Given the description of an element on the screen output the (x, y) to click on. 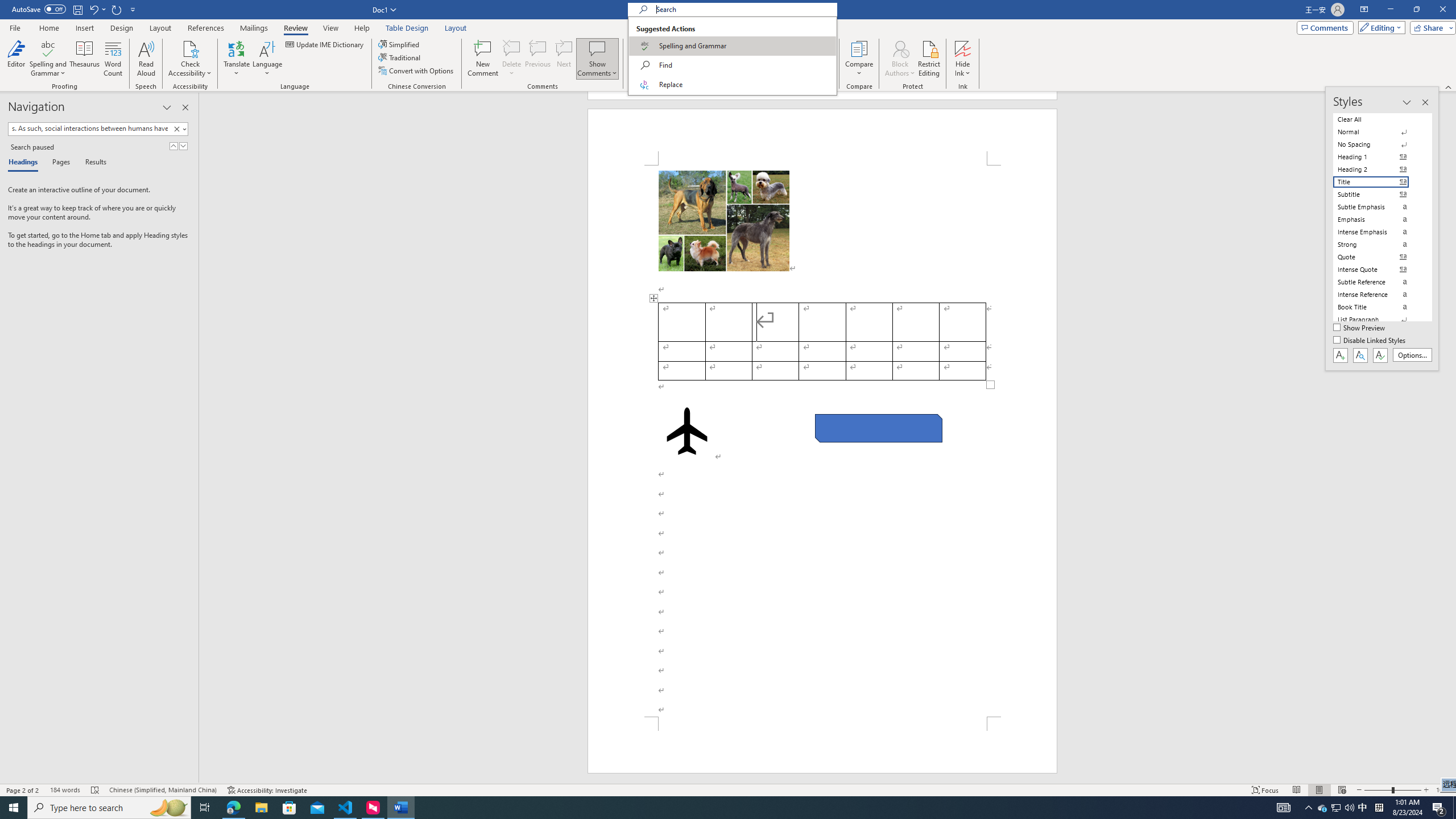
Undo Style (92, 9)
Design (122, 28)
Disable Linked Styles (1370, 340)
Intense Quote (1377, 269)
Read Mode (1296, 790)
Editing (1379, 27)
Page Number Page 2 of 2 (22, 790)
Print Layout (1318, 790)
Undo Style (96, 9)
Clear All (1377, 119)
View (330, 28)
Block Authors (900, 58)
Language (267, 58)
